Given the description of an element on the screen output the (x, y) to click on. 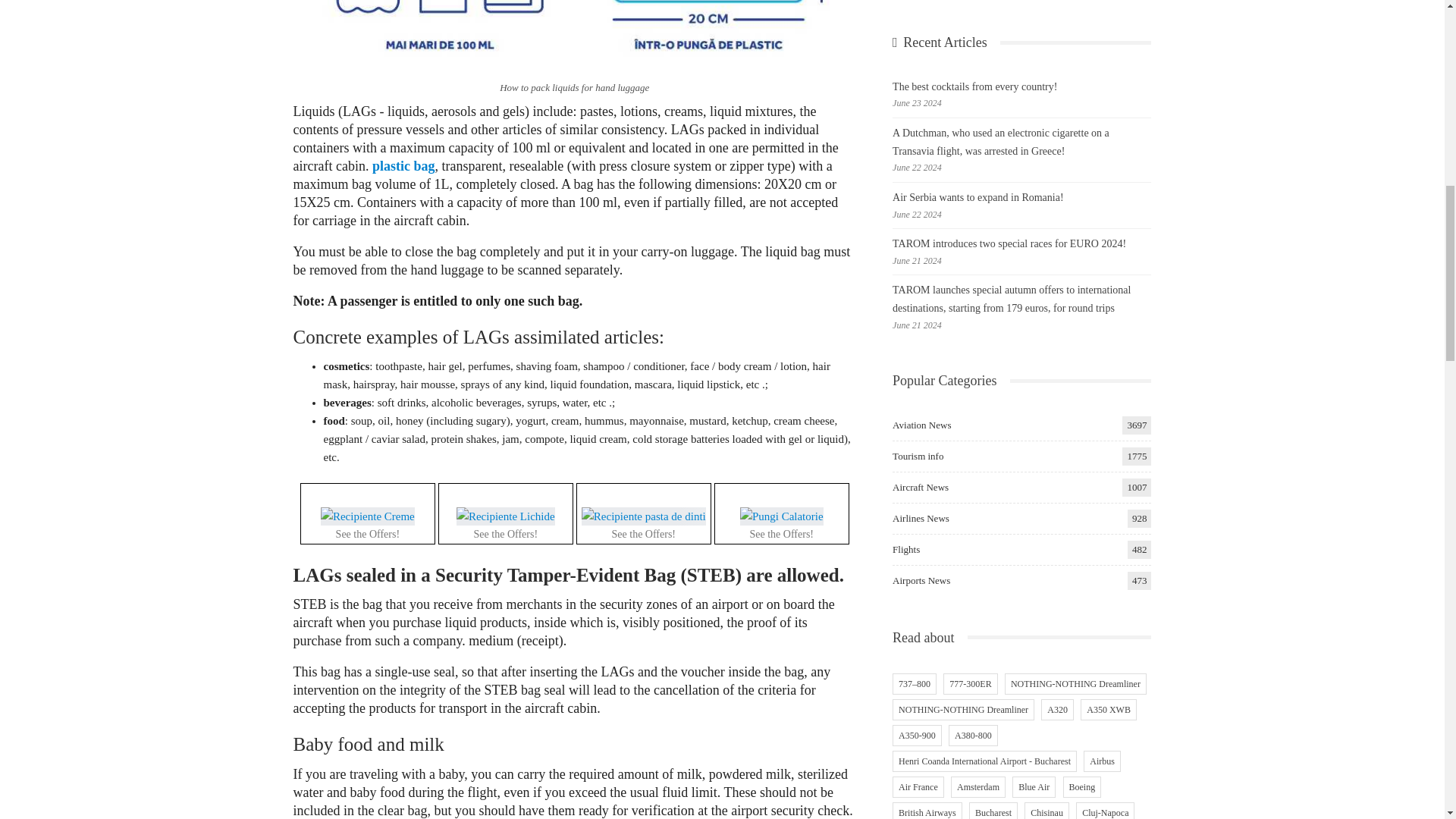
See the Offers! (367, 515)
See the Offers! (781, 515)
Liquid container (505, 515)
Travel bags (781, 515)
plastic bag (403, 165)
See the Offers! (505, 515)
Toothpaste containers (643, 515)
See the Offers! (643, 515)
Cream container (367, 515)
